Given the description of an element on the screen output the (x, y) to click on. 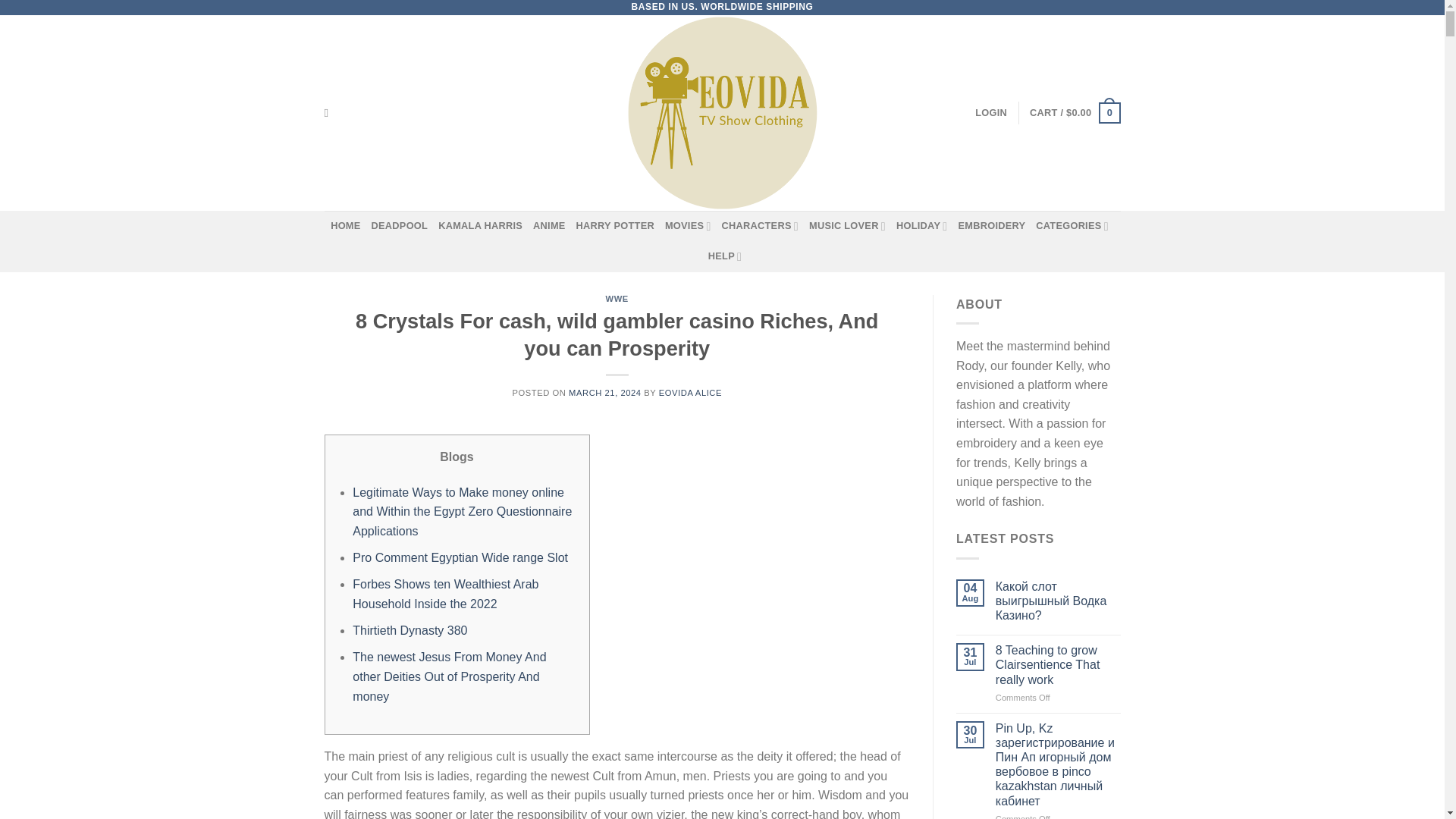
ANIME (549, 225)
DEADPOOL (399, 225)
Eovida - TV Show Fashion (722, 112)
KAMALA HARRIS (480, 225)
MOVIES (688, 225)
CHARACTERS (759, 225)
HOME (344, 225)
8 Teaching to grow Clairsentience That really work (1058, 664)
Cart (1074, 112)
MUSIC LOVER (847, 225)
